Given the description of an element on the screen output the (x, y) to click on. 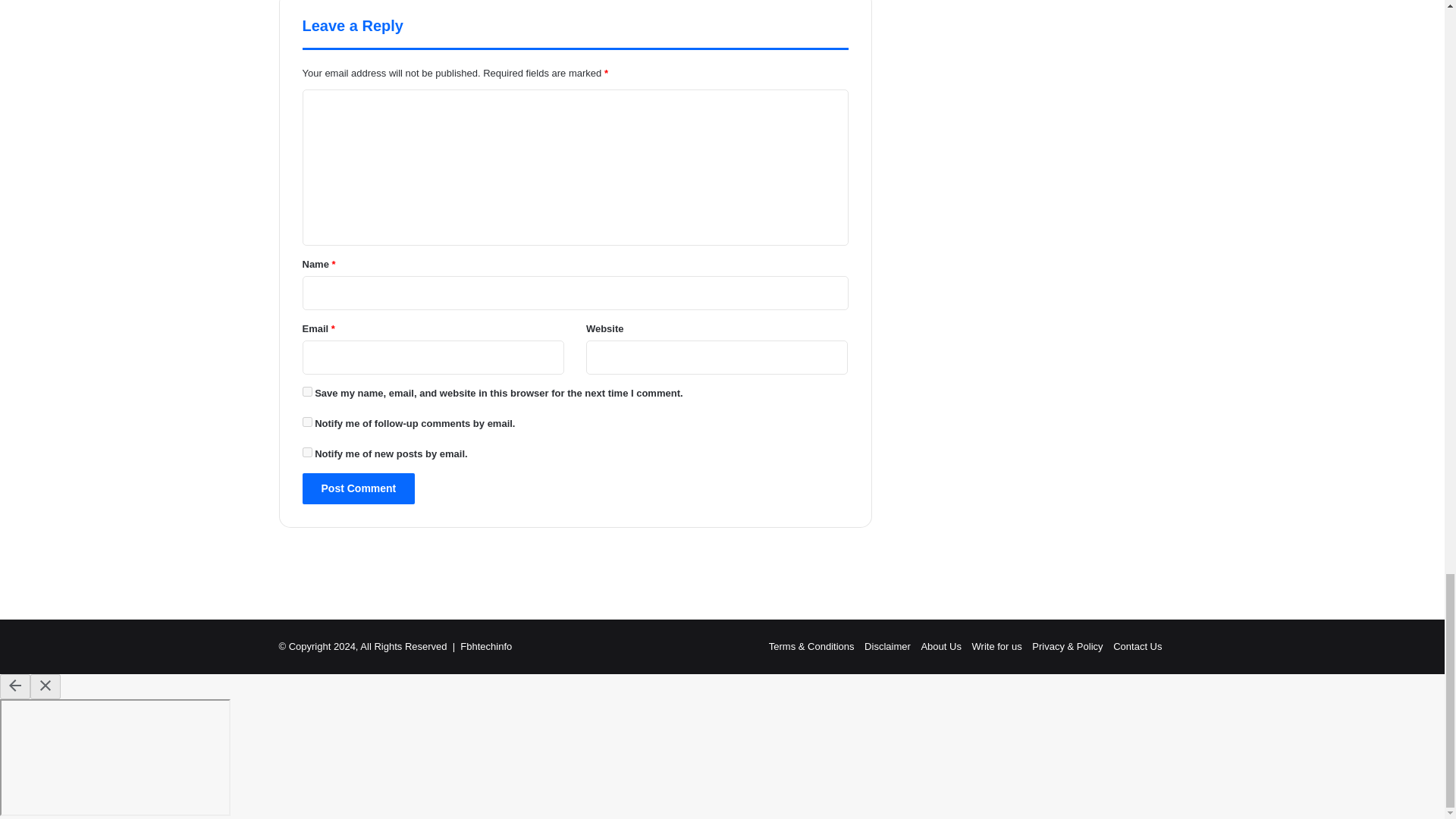
subscribe (306, 452)
yes (306, 391)
Post Comment (357, 488)
subscribe (306, 421)
